Given the description of an element on the screen output the (x, y) to click on. 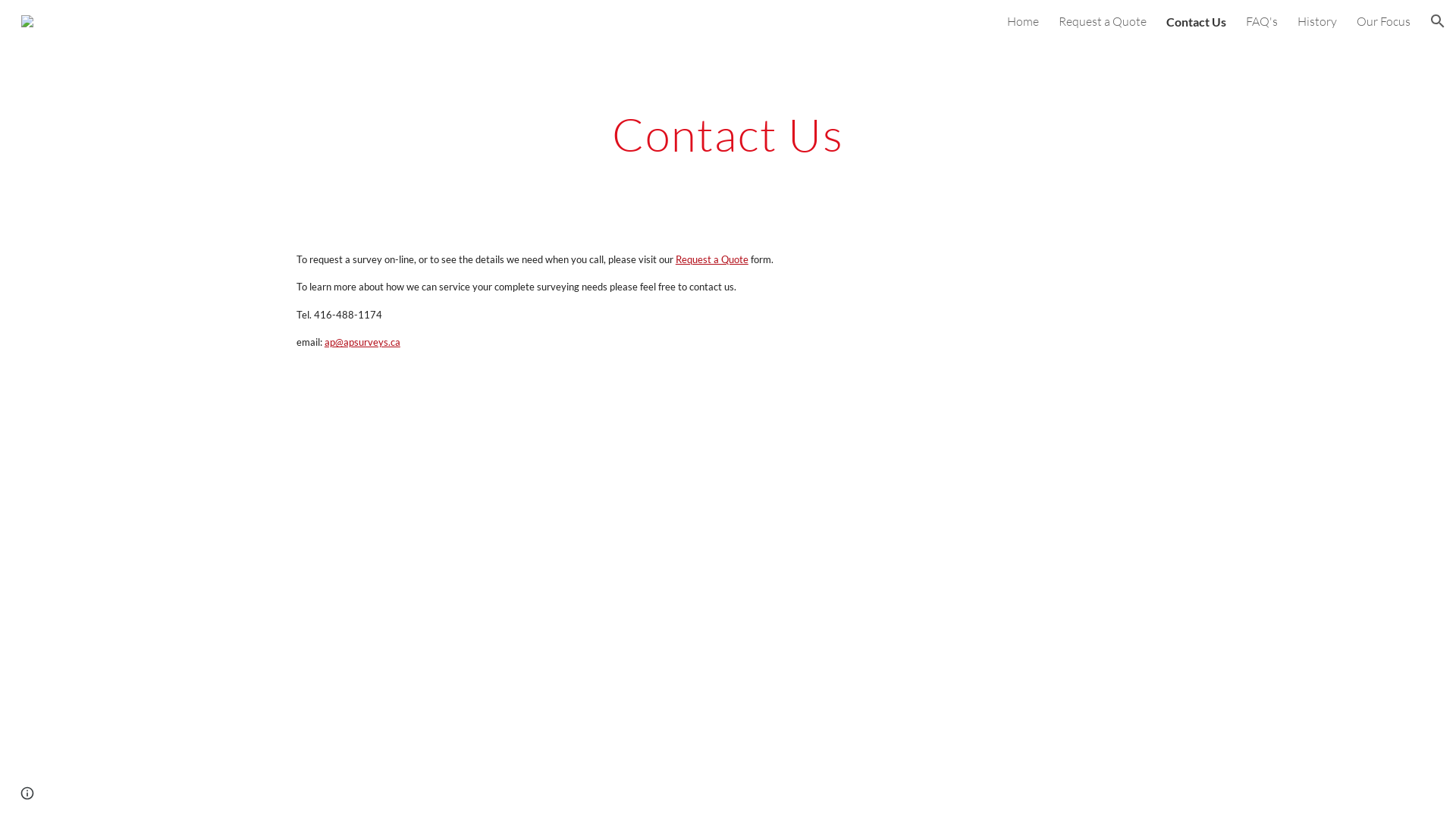
History Element type: text (1316, 20)
Request a Quote Element type: text (1102, 20)
FAQ's Element type: text (1261, 20)
ap@apsurveys.ca Element type: text (361, 341)
Request a Quote Element type: text (710, 258)
Contact Us Element type: text (1196, 20)
Home Element type: text (1022, 20)
Our Focus Element type: text (1383, 20)
